Given the description of an element on the screen output the (x, y) to click on. 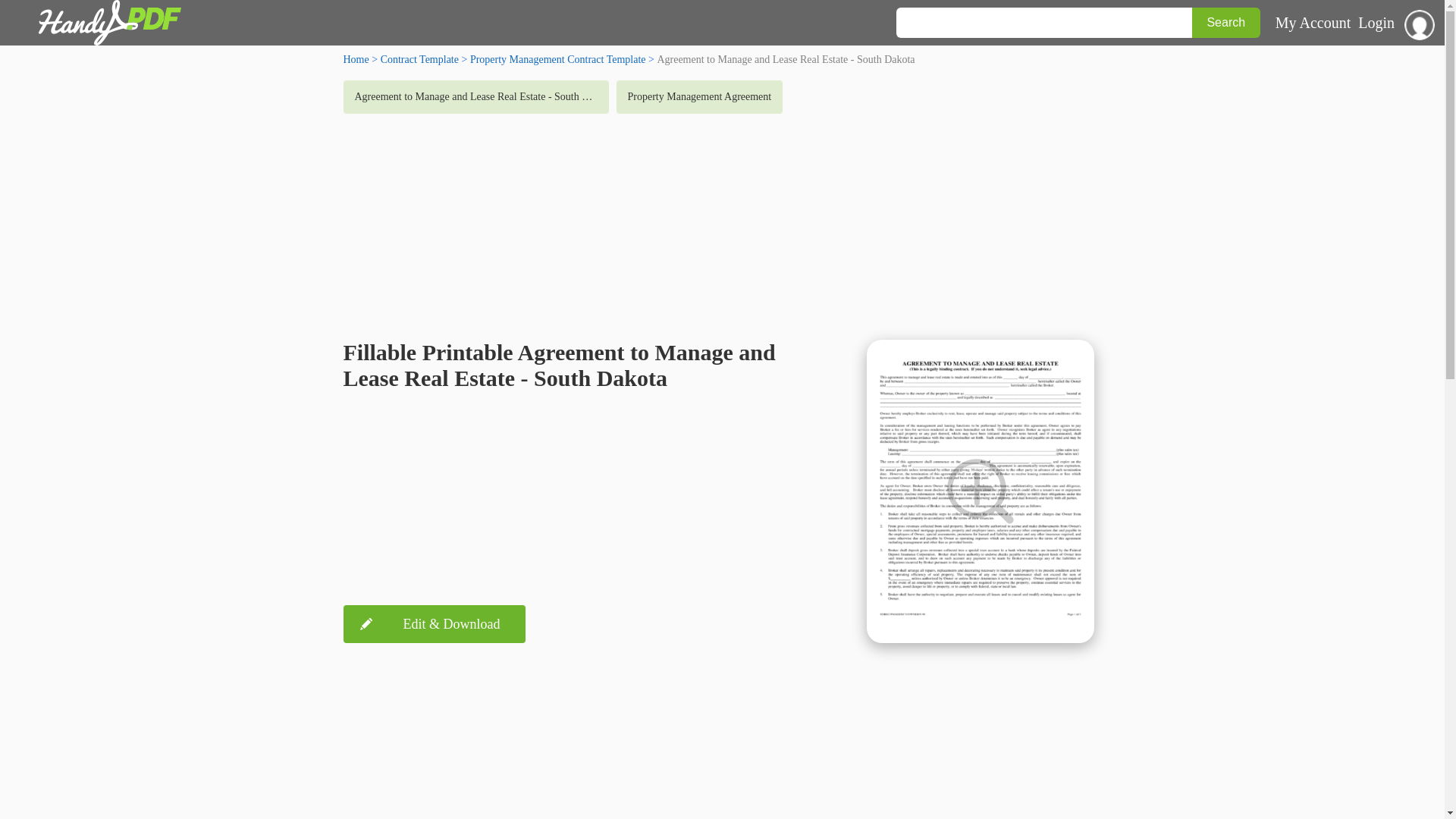
Search (1226, 22)
My Account (1313, 22)
Contract Template (419, 59)
Home (355, 59)
Agreement to Manage and Lease Real Estate - South Dakota (475, 96)
Property Management Agreement (699, 96)
home (355, 59)
Search (1226, 22)
Property Management Contract Template (558, 59)
Property Management Agreement (699, 96)
Agreement to Manage and Lease Real Estate - South Dakota (475, 96)
